Given the description of an element on the screen output the (x, y) to click on. 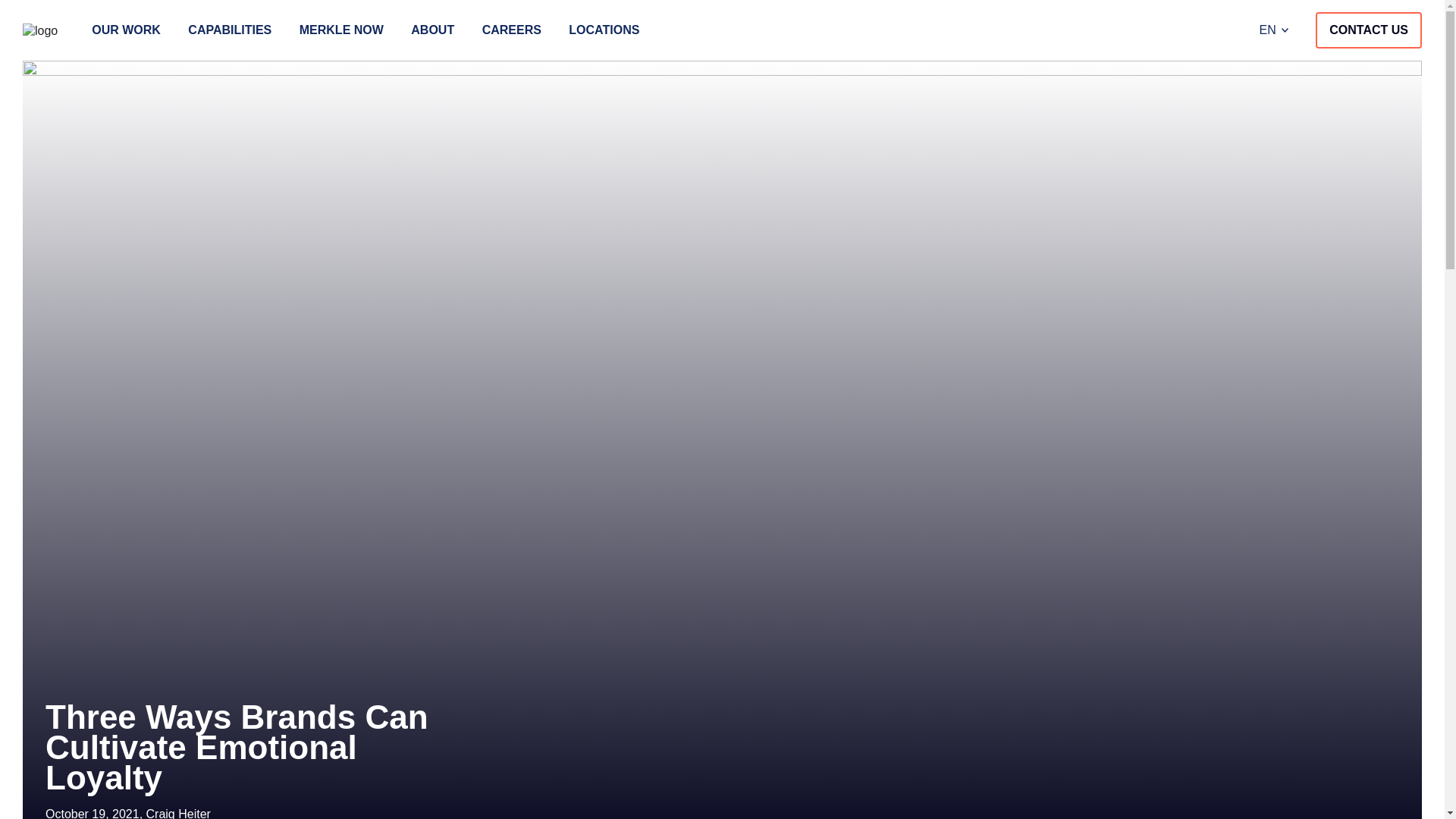
CAPABILITIES (228, 30)
CAREERS (511, 30)
merkle-full-logo-lt.svg (40, 30)
OUR WORK (125, 30)
MERKLE NOW (341, 30)
ABOUT (432, 30)
LOCATIONS (604, 30)
